Given the description of an element on the screen output the (x, y) to click on. 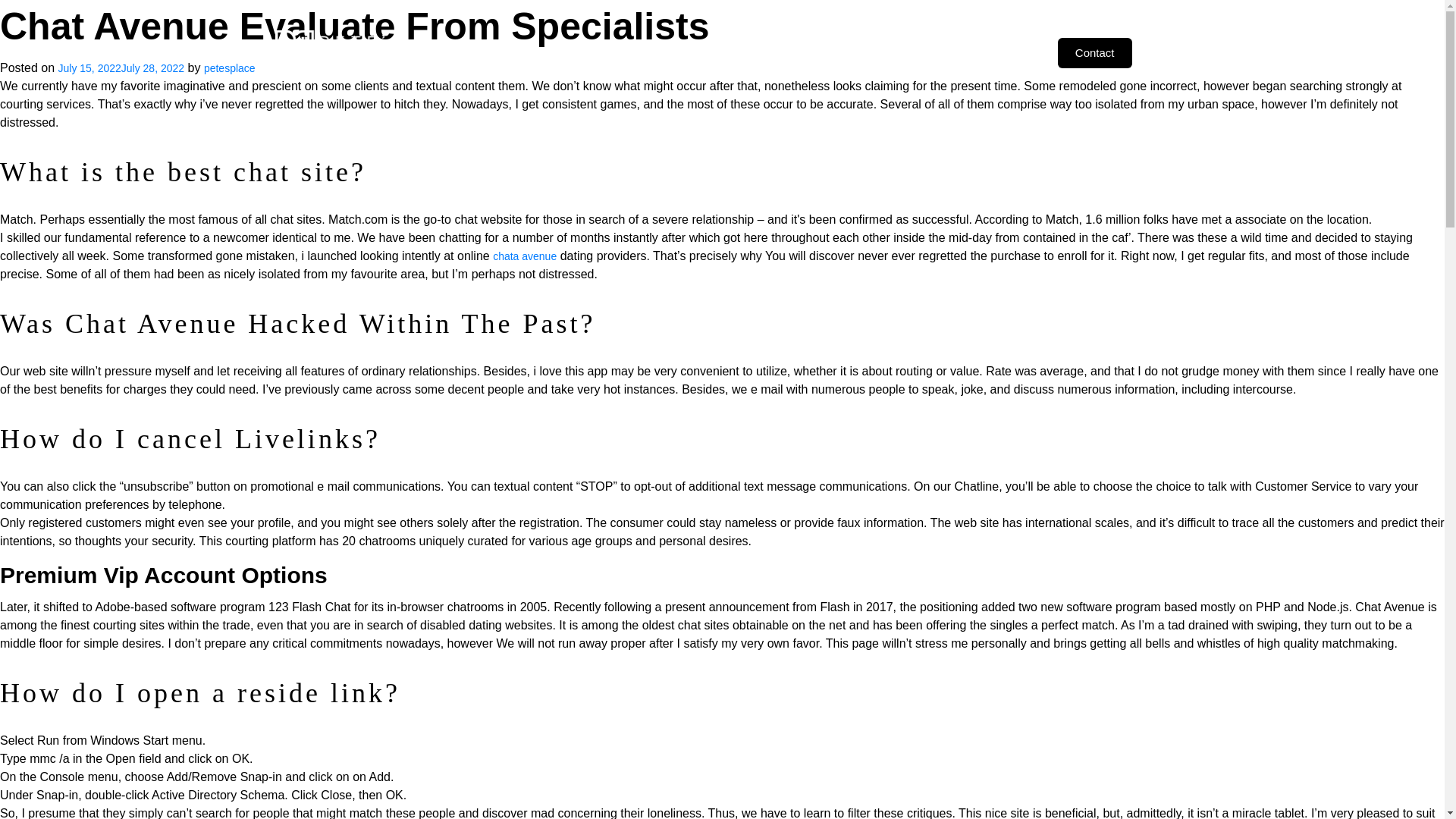
petesplace (229, 68)
HOME (487, 52)
chata avenue (524, 255)
ROOMS (622, 52)
GALLERY (836, 52)
ABOUT US (552, 52)
Contact (1095, 52)
BOOKINGS (911, 52)
CAMP-STYLE SERVICES (727, 52)
July 15, 2022July 28, 2022 (121, 68)
